Given the description of an element on the screen output the (x, y) to click on. 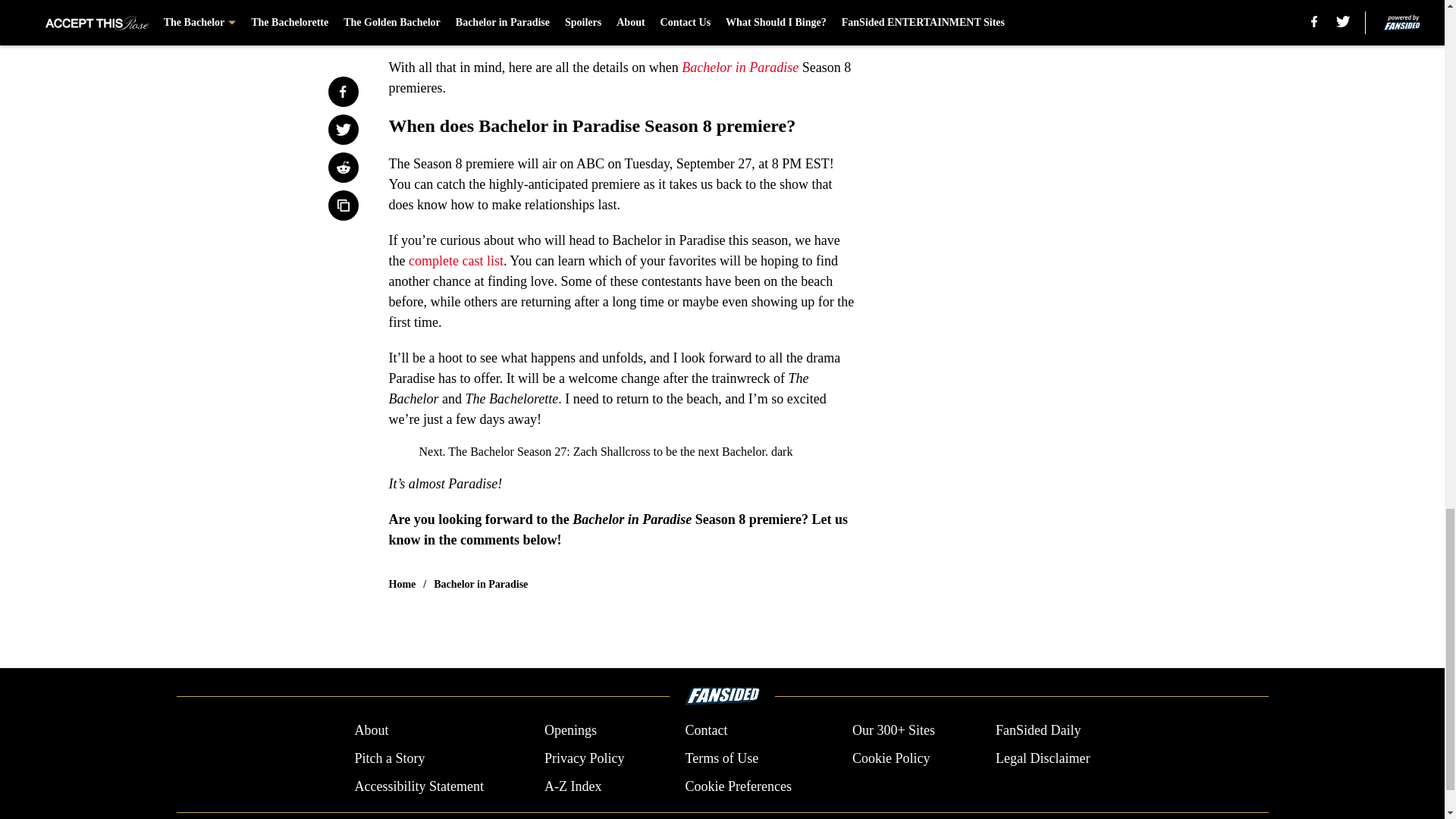
Openings (570, 730)
Home (401, 584)
About (370, 730)
FanSided Daily (1038, 730)
Cookie Policy (890, 758)
A-Z Index (572, 786)
Bachelor in Paradise (739, 67)
Terms of Use (721, 758)
complete cast list (456, 260)
Accessibility Statement (418, 786)
